Given the description of an element on the screen output the (x, y) to click on. 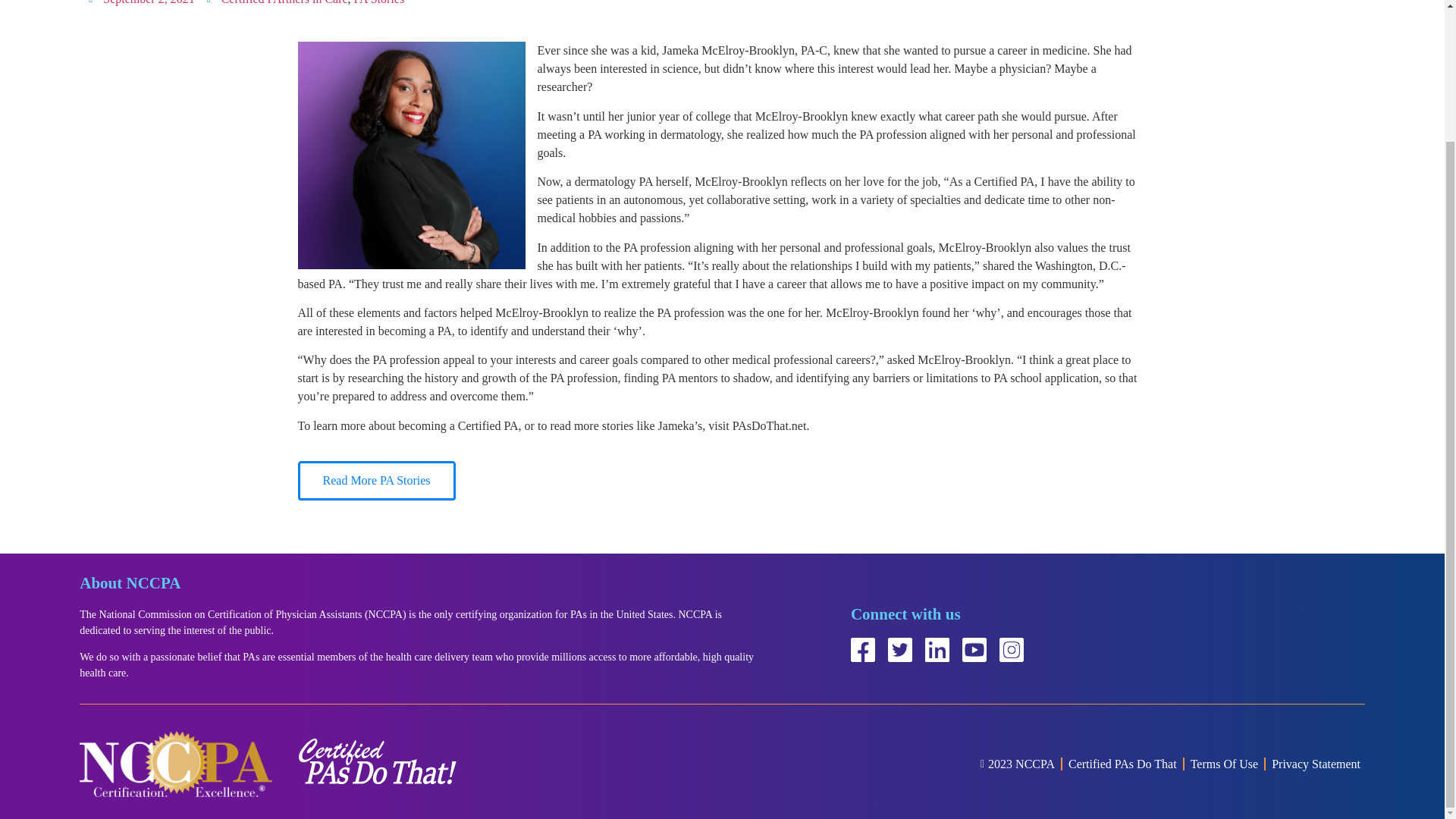
September 2, 2021 (140, 4)
PA Stories (378, 2)
Privacy Statement (1315, 763)
Certified PArtners in Care (284, 2)
Read More PA Stories (375, 480)
2023 NCCPA (1012, 763)
Terms Of Use (1225, 763)
Certified PAs Do That (1122, 763)
